Given the description of an element on the screen output the (x, y) to click on. 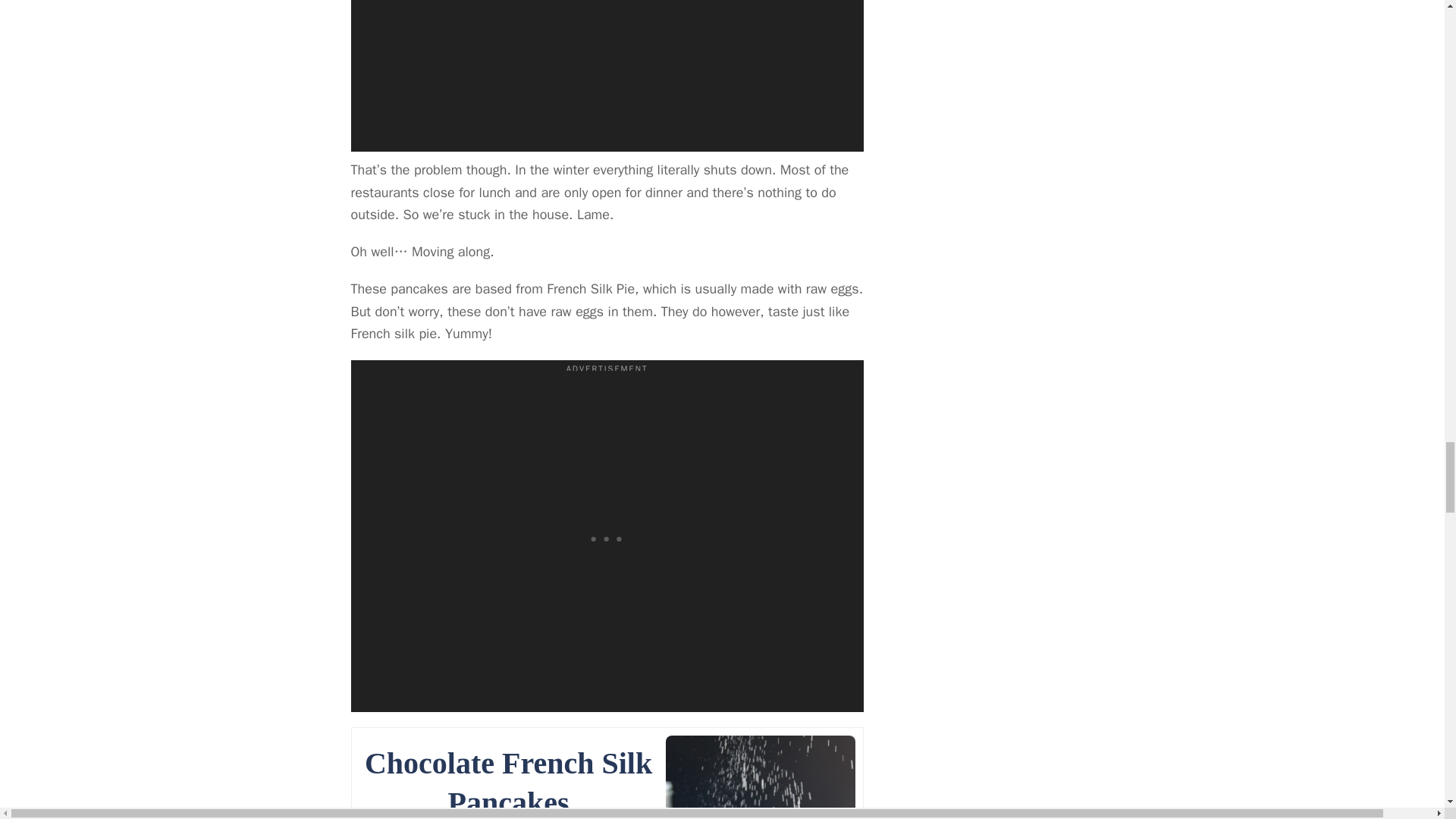
Chocolate French Silk Pancakes 4 (760, 777)
